Given the description of an element on the screen output the (x, y) to click on. 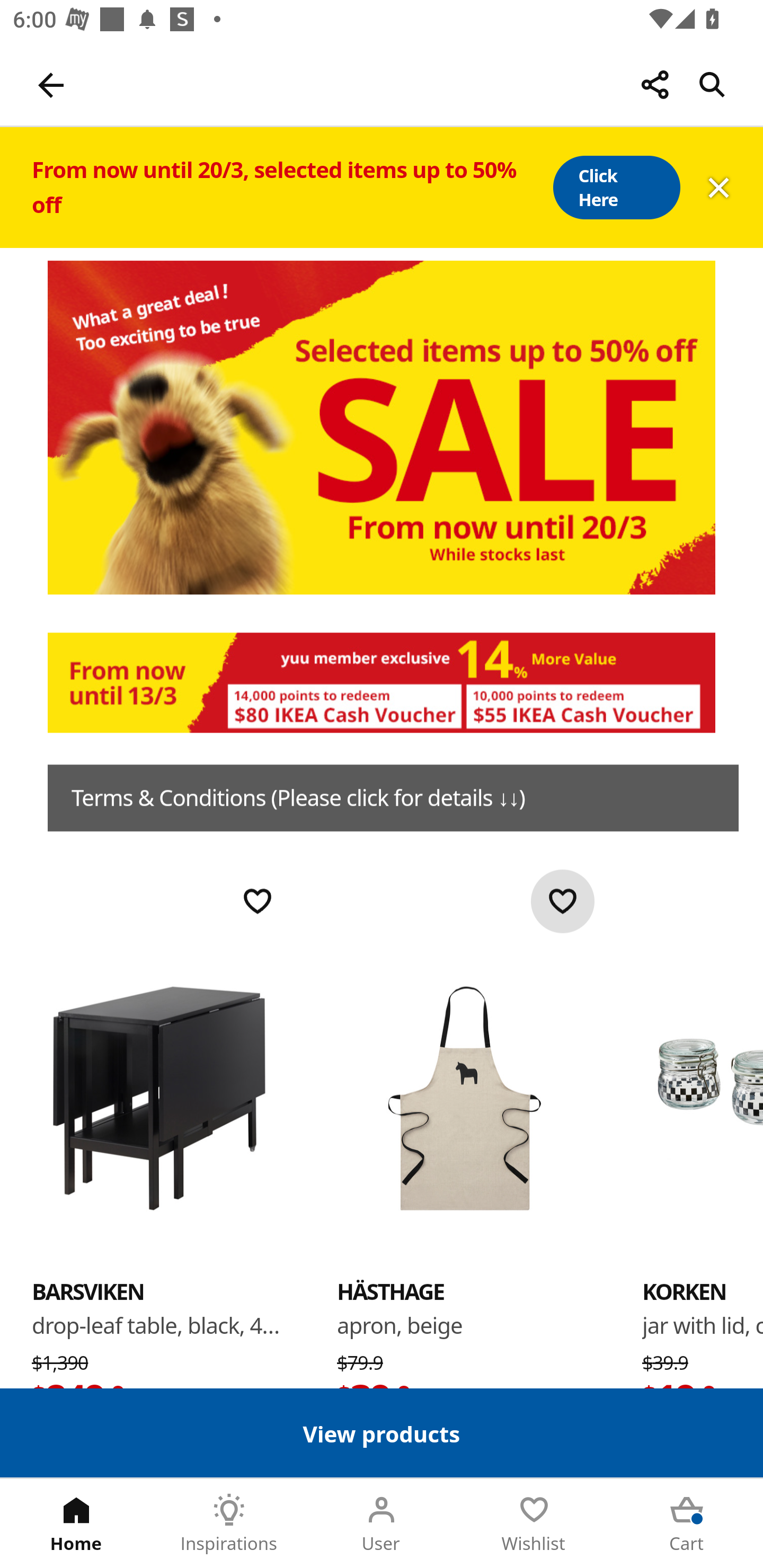
Click Here (615, 187)
Terms & Conditions (Please click for details ↓↓) (393, 798)
BARSVIKEN (159, 1096)
HÄSTHAGE (464, 1096)
KORKEN (702, 1096)
BARSVIKEN (88, 1290)
HÄSTHAGE (390, 1290)
KORKEN (684, 1290)
View products (381, 1432)
Home
Tab 1 of 5 (76, 1522)
Inspirations
Tab 2 of 5 (228, 1522)
User
Tab 3 of 5 (381, 1522)
Wishlist
Tab 4 of 5 (533, 1522)
Cart
Tab 5 of 5 (686, 1522)
